Given the description of an element on the screen output the (x, y) to click on. 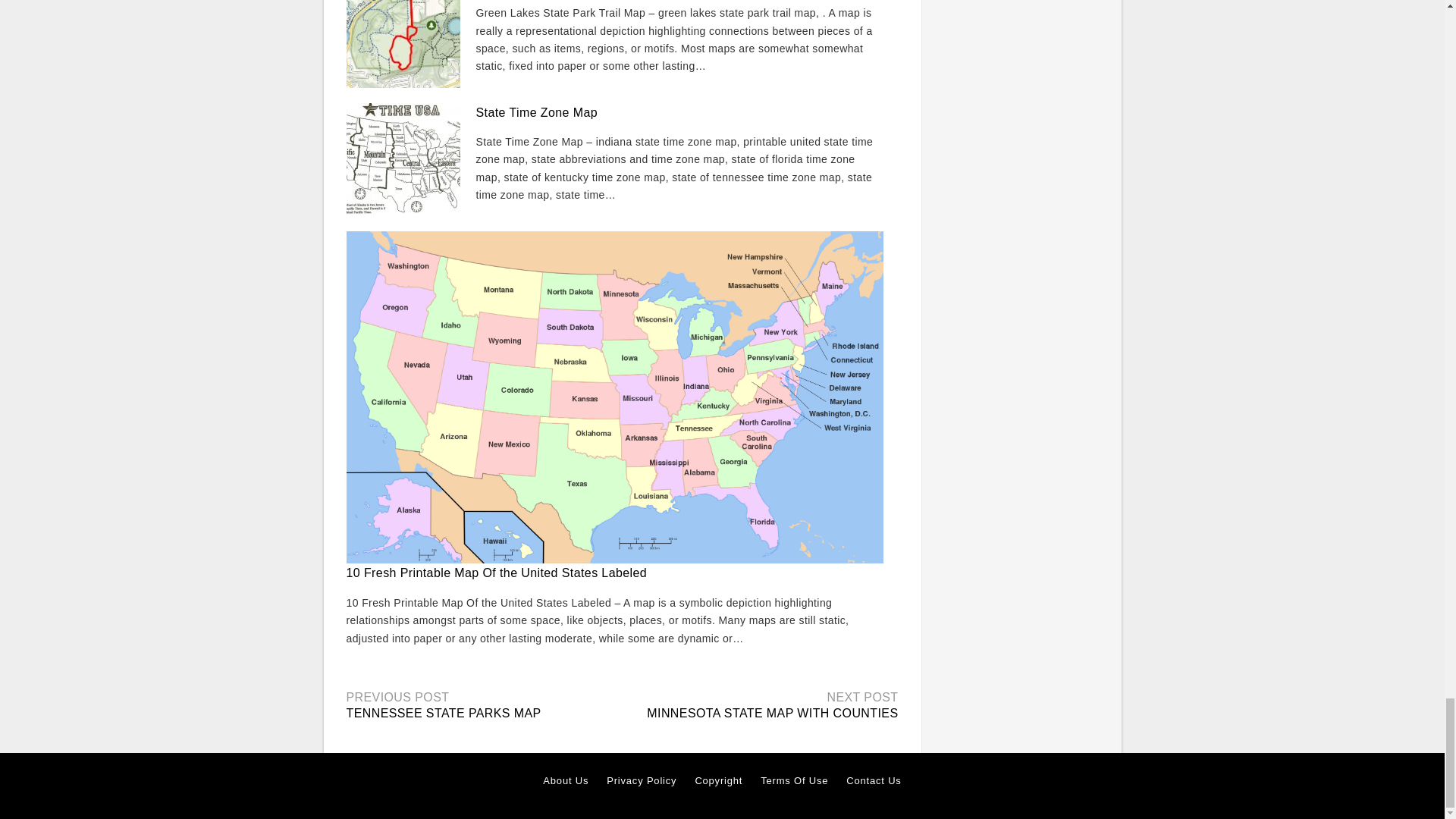
10 Fresh Printable Map Of the United States Labeled (496, 572)
TENNESSEE STATE PARKS MAP (443, 712)
MINNESOTA STATE MAP WITH COUNTIES (772, 712)
State Time Zone Map (537, 111)
